Given the description of an element on the screen output the (x, y) to click on. 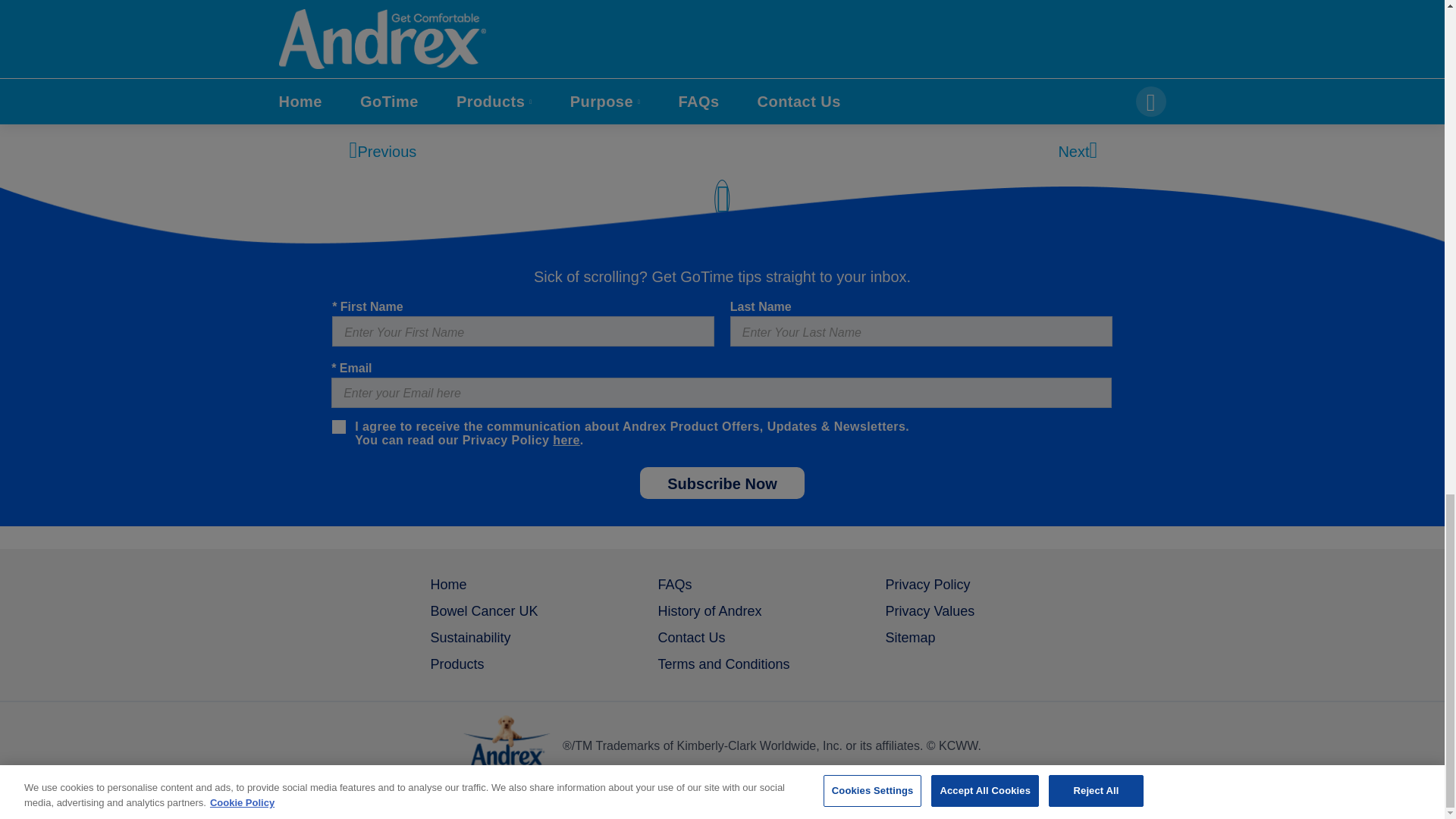
Subscribe Now (721, 482)
Previous (382, 151)
Back to top (722, 207)
Lifting the lid on toilet training (453, 6)
Lifting the lid on toilet training: Where to get support? (532, 103)
Back to top (722, 227)
Next (1076, 151)
